Given the description of an element on the screen output the (x, y) to click on. 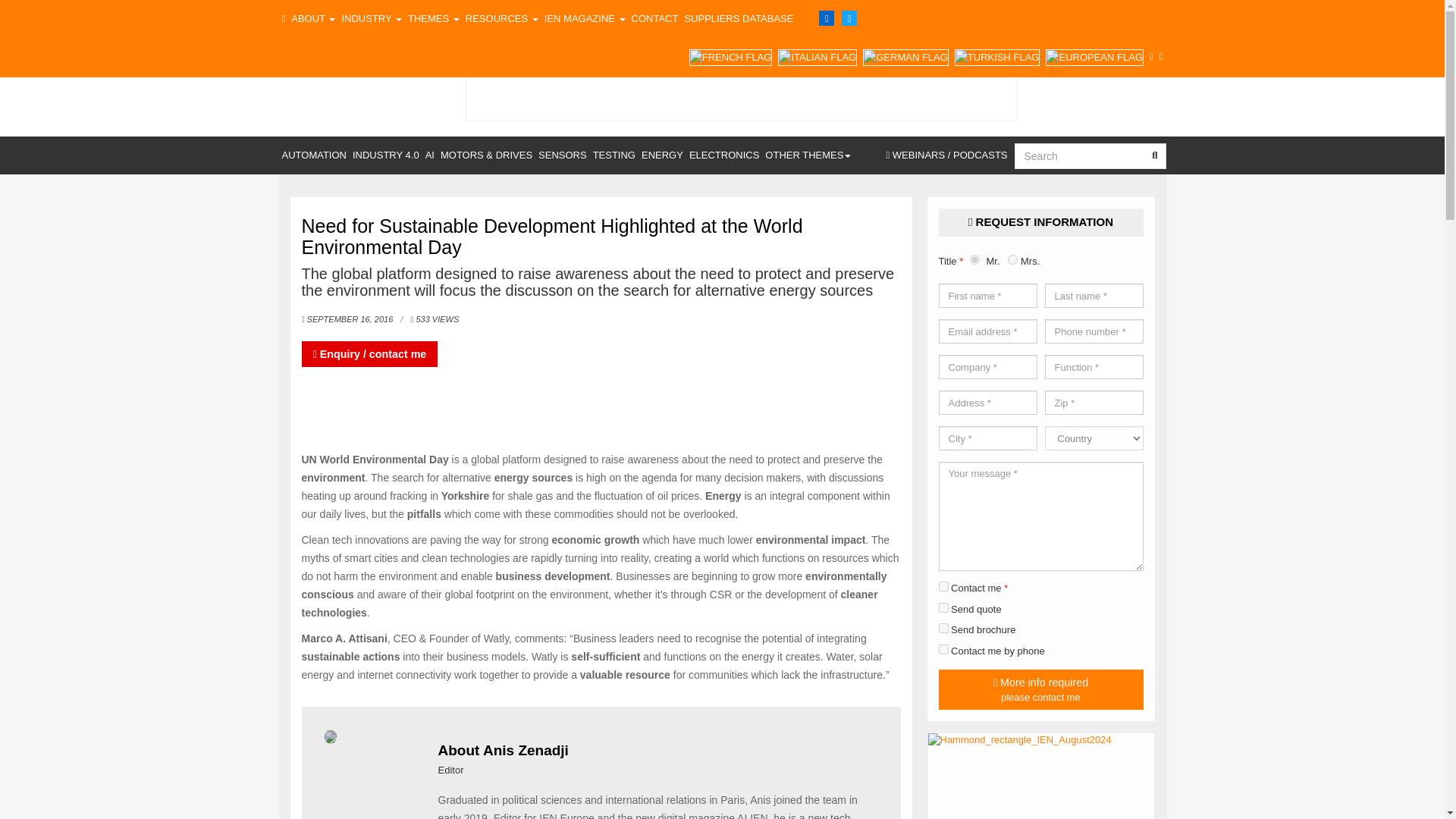
ABOUT (312, 18)
Mrs (1012, 259)
Mr (974, 259)
Home (283, 18)
RESOURCES (502, 18)
INDUSTRY (370, 18)
Industry (370, 18)
THEMES (433, 18)
enquireForm.options.001 (944, 628)
IEN MAGAZINE (584, 18)
enquireForm.options.002 (944, 607)
Themes (433, 18)
1 (944, 586)
enquireForm.options.003 (944, 649)
